Given the description of an element on the screen output the (x, y) to click on. 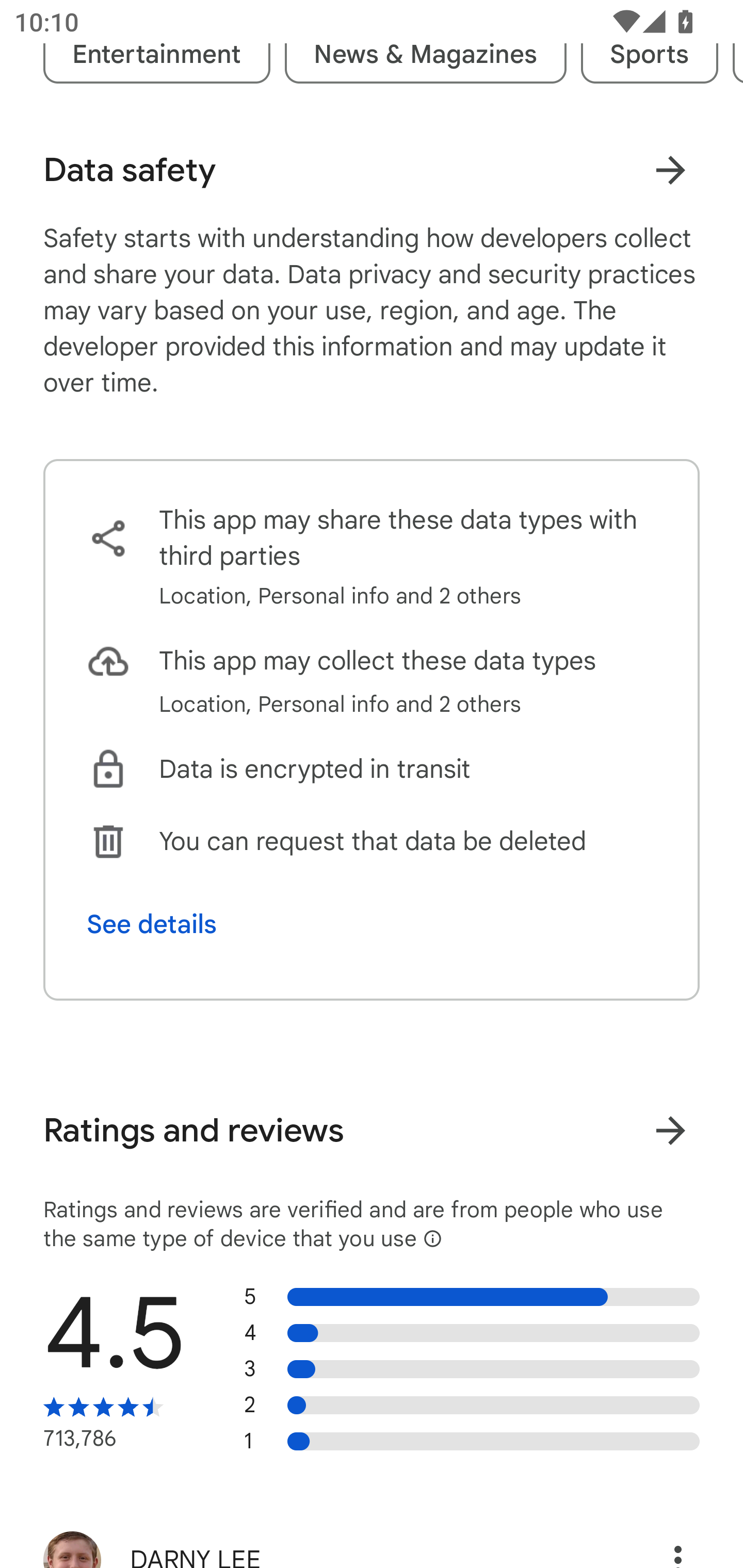
Data safety Learn more about data safety (371, 170)
Learn more about data safety (670, 170)
See details (151, 924)
Ratings and reviews View all ratings and reviews (371, 1130)
View all ratings and reviews (670, 1130)
Options (655, 1542)
